Given the description of an element on the screen output the (x, y) to click on. 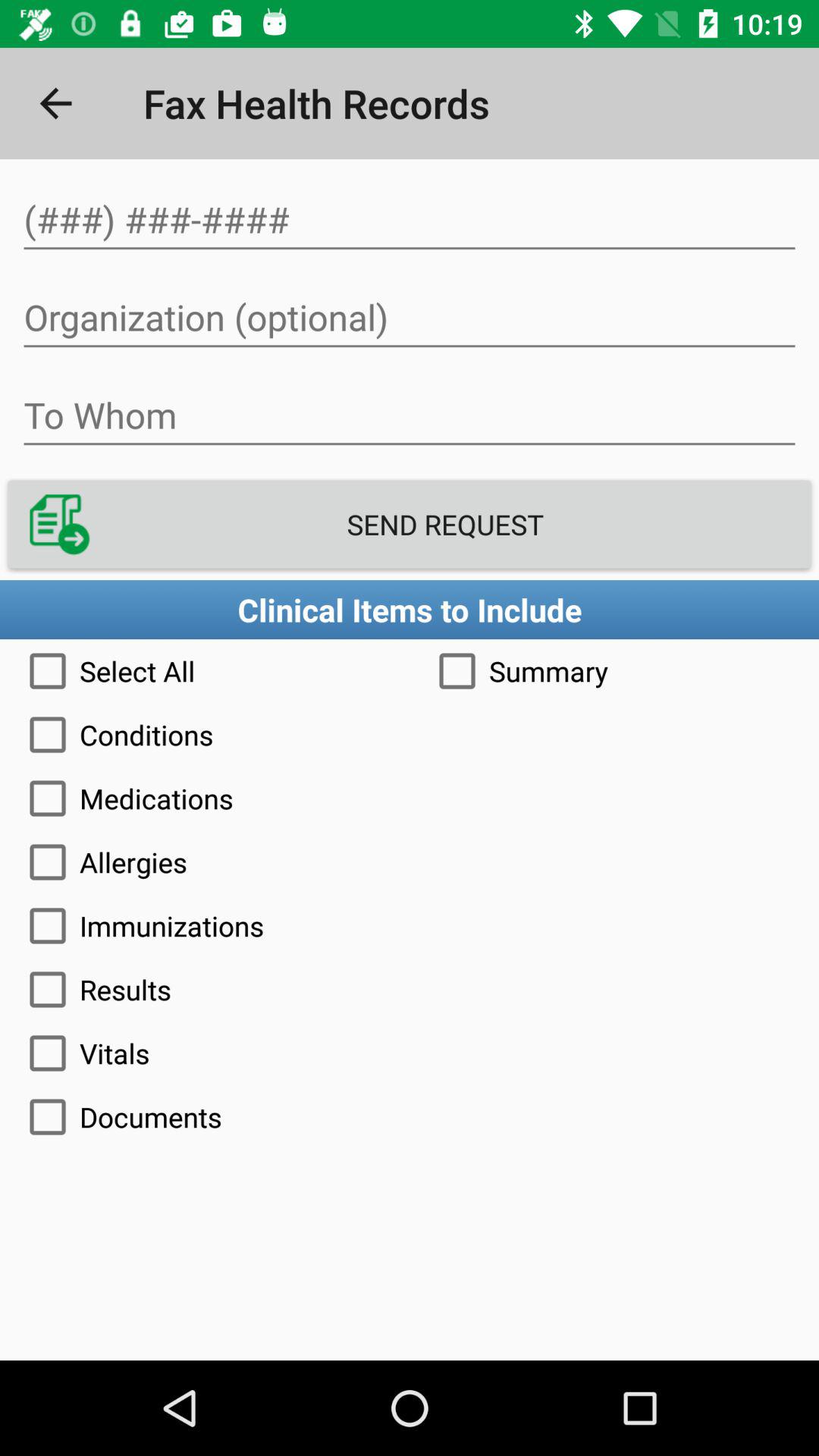
turn off documents icon (409, 1116)
